Given the description of an element on the screen output the (x, y) to click on. 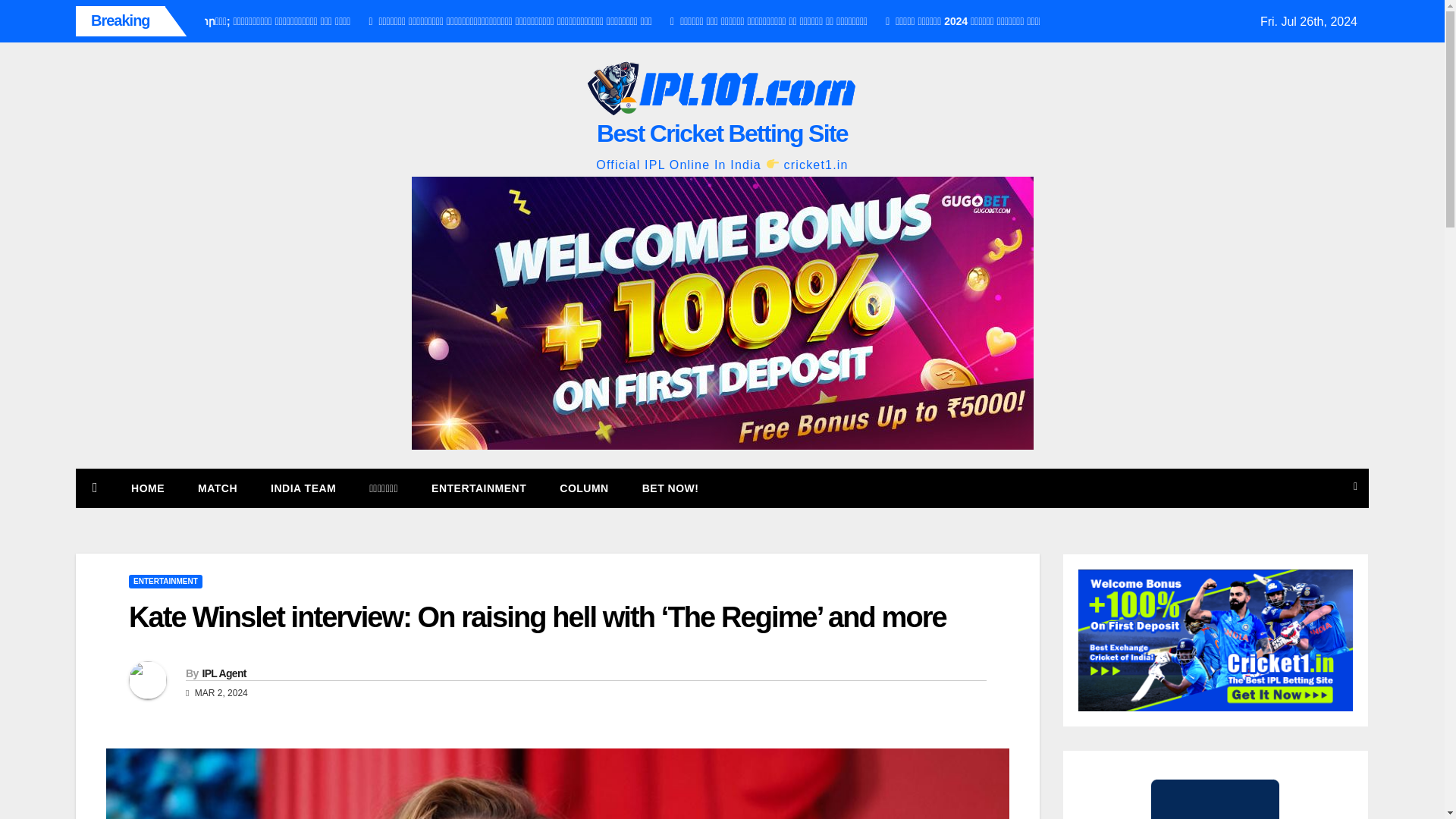
Home (147, 487)
Bet Now! (671, 487)
ENTERTAINMENT (478, 487)
COLUMN (583, 487)
HOME (147, 487)
Column (583, 487)
ENTERTAINMENT (165, 581)
IPL Agent (224, 673)
Best Cricket Betting Site (721, 133)
Entertainment (478, 487)
India Team (302, 487)
BET NOW! (671, 487)
INDIA TEAM (302, 487)
MATCH (216, 487)
Match (216, 487)
